Given the description of an element on the screen output the (x, y) to click on. 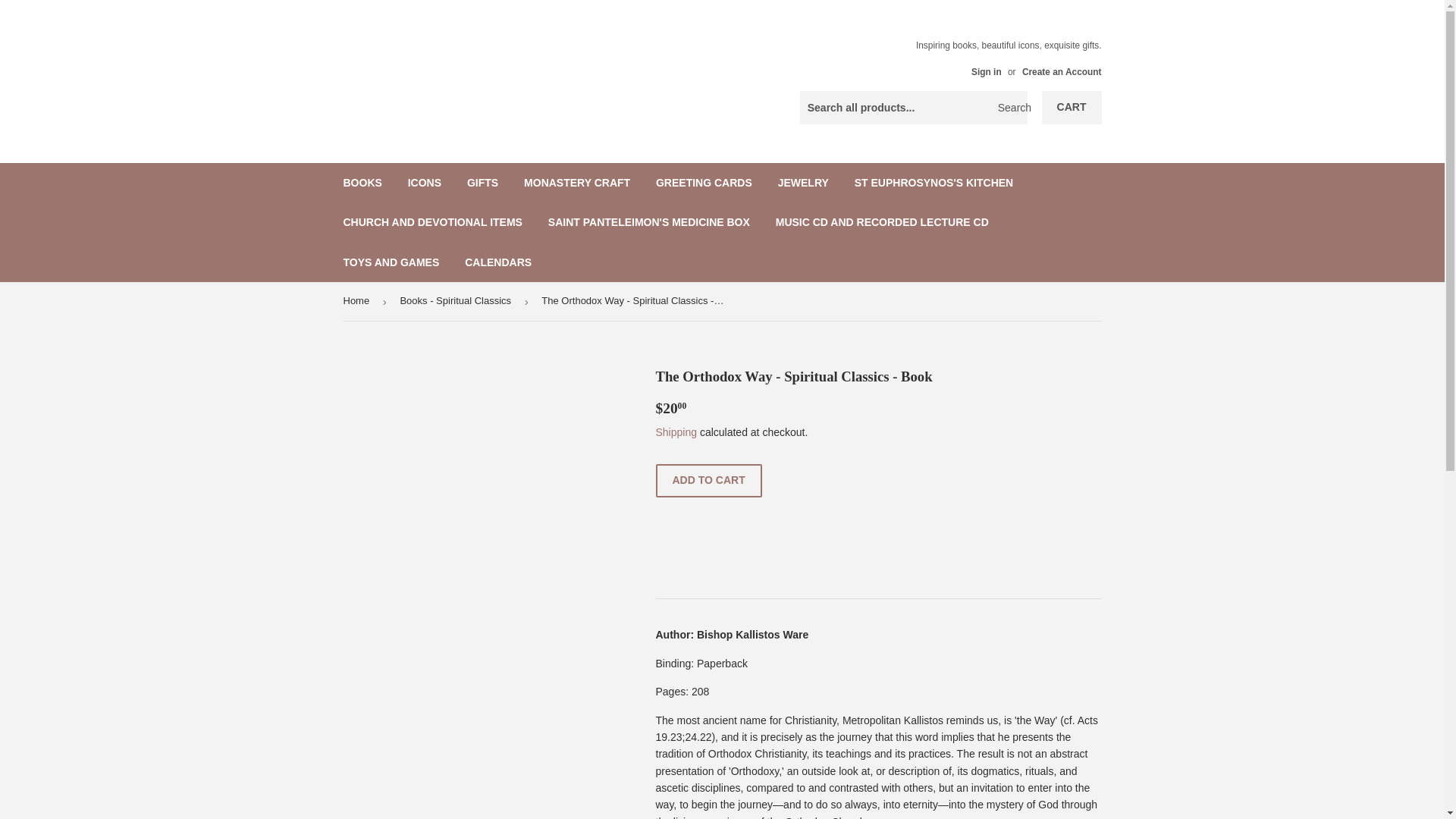
Back to the frontpage (358, 301)
Create an Account (1062, 71)
CART (1072, 107)
Sign in (986, 71)
Search (1009, 108)
